Given the description of an element on the screen output the (x, y) to click on. 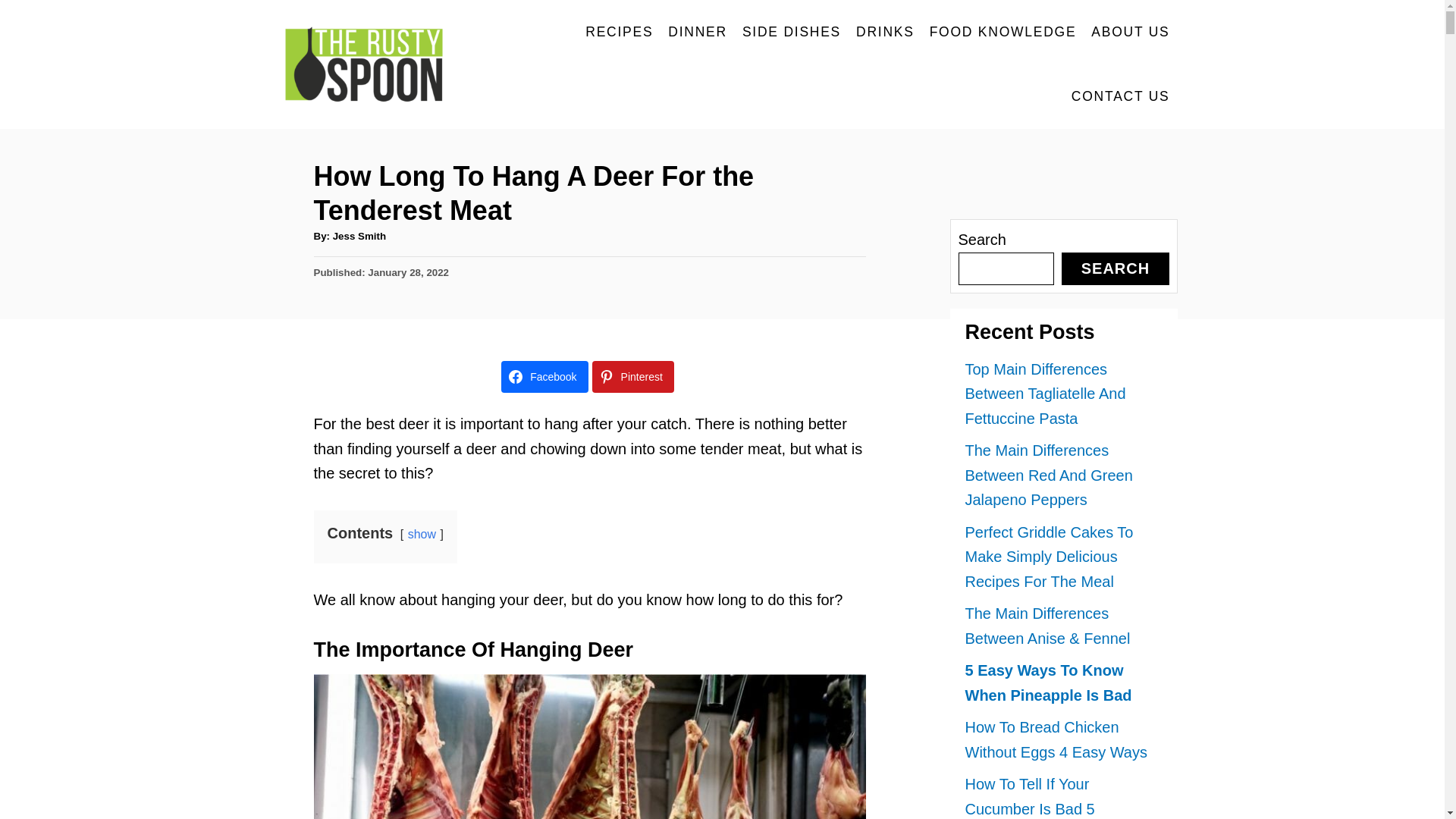
DRINKS (884, 32)
The Rusty Spoon (371, 64)
DINNER (698, 32)
FOOD KNOWLEDGE (1002, 32)
RECIPES (619, 32)
Share on Pinterest (633, 377)
SIDE DISHES (791, 32)
Share on Facebook (544, 377)
